Given the description of an element on the screen output the (x, y) to click on. 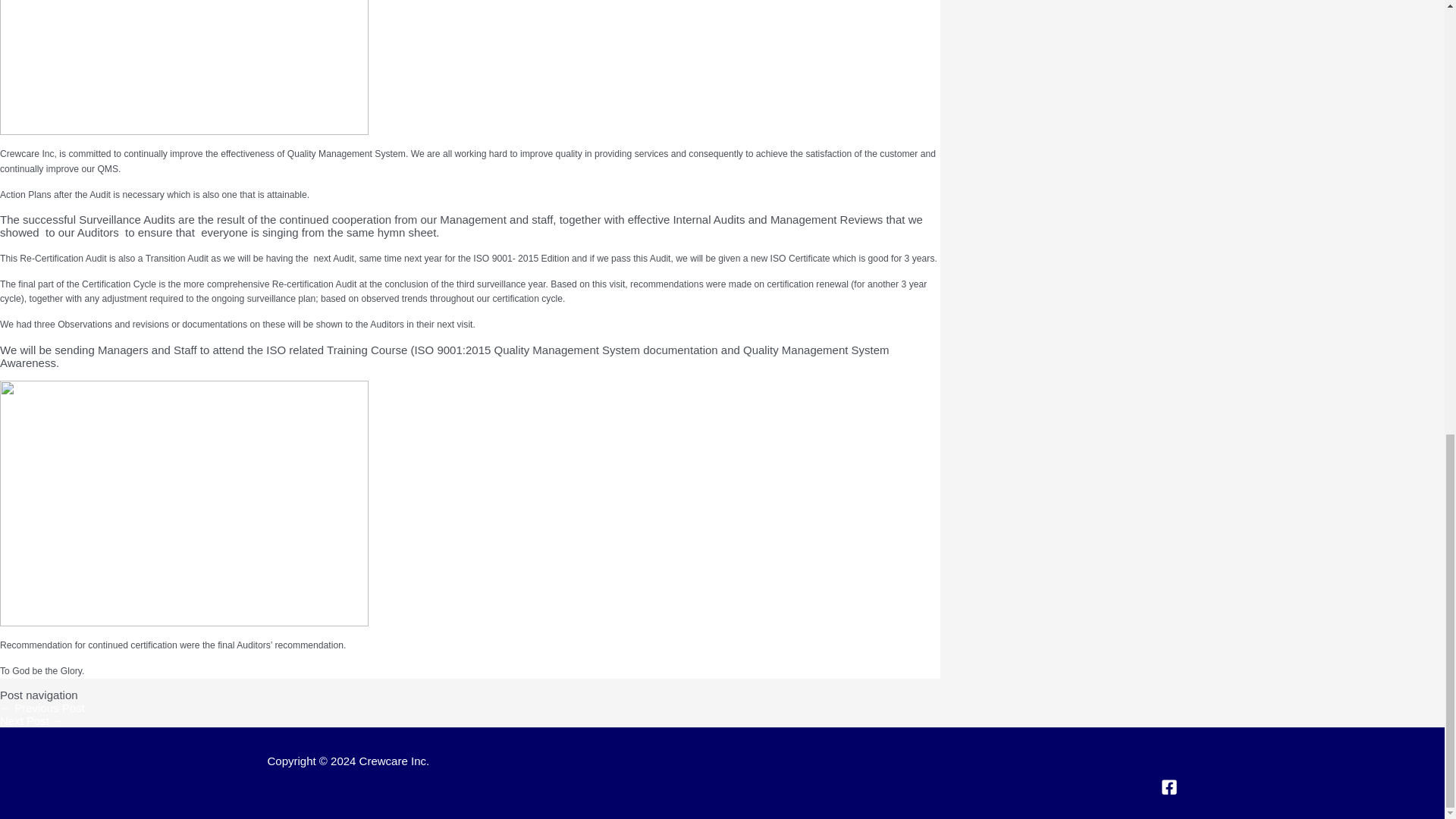
CREWCARE building's inauguration (32, 720)
Christmas Party 2016 (42, 707)
